Given the description of an element on the screen output the (x, y) to click on. 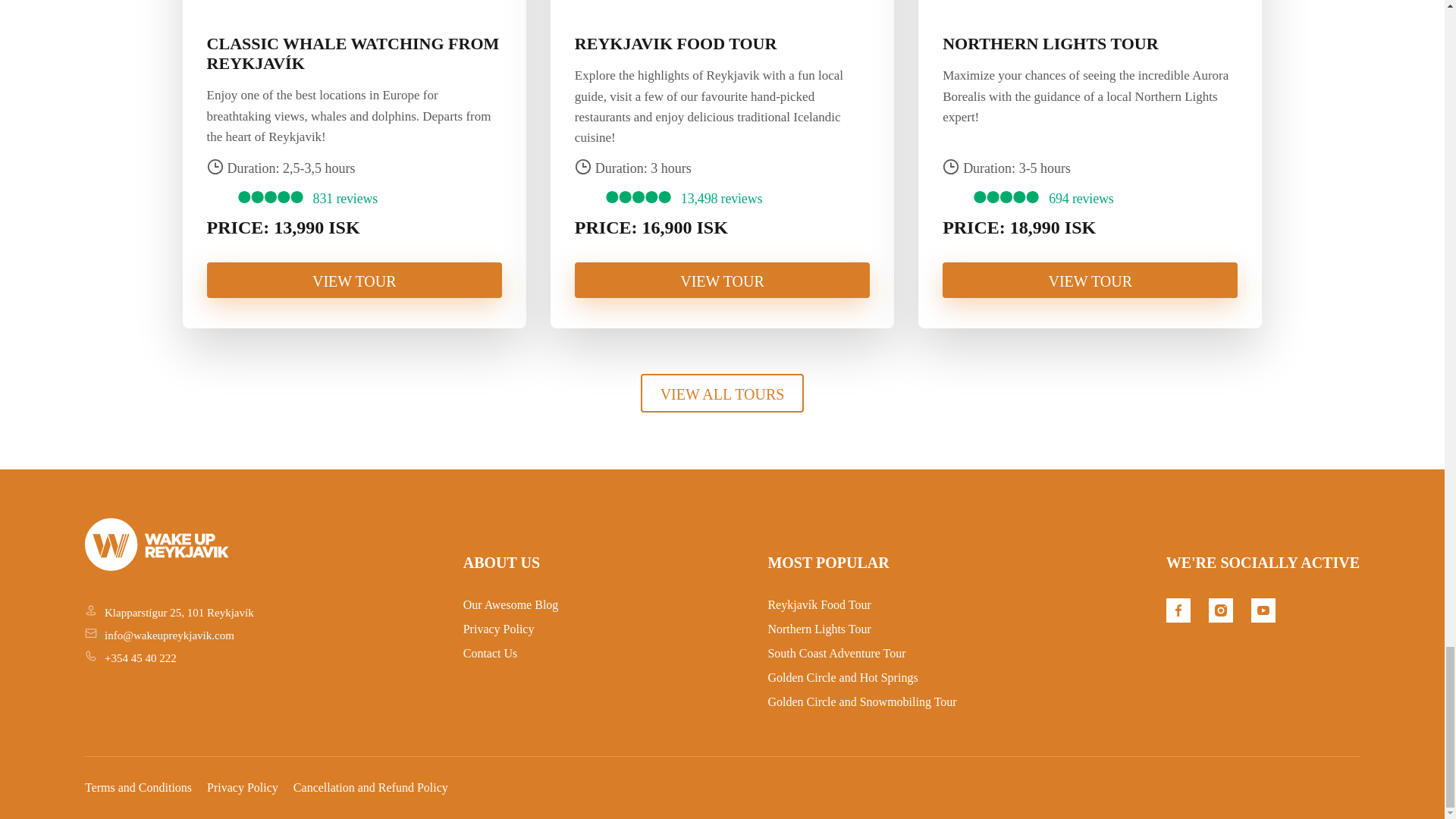
Privacy Policy (498, 628)
Cancellation and Refund Policy (371, 787)
VIEW TOUR (1089, 280)
Contact Us (490, 653)
Privacy Policy (242, 787)
Our Awesome Blog (511, 604)
VIEW TOUR (722, 280)
Northern Lights Tour (818, 628)
Golden Circle and Hot Springs (842, 676)
VIEW TOUR (354, 280)
